Given the description of an element on the screen output the (x, y) to click on. 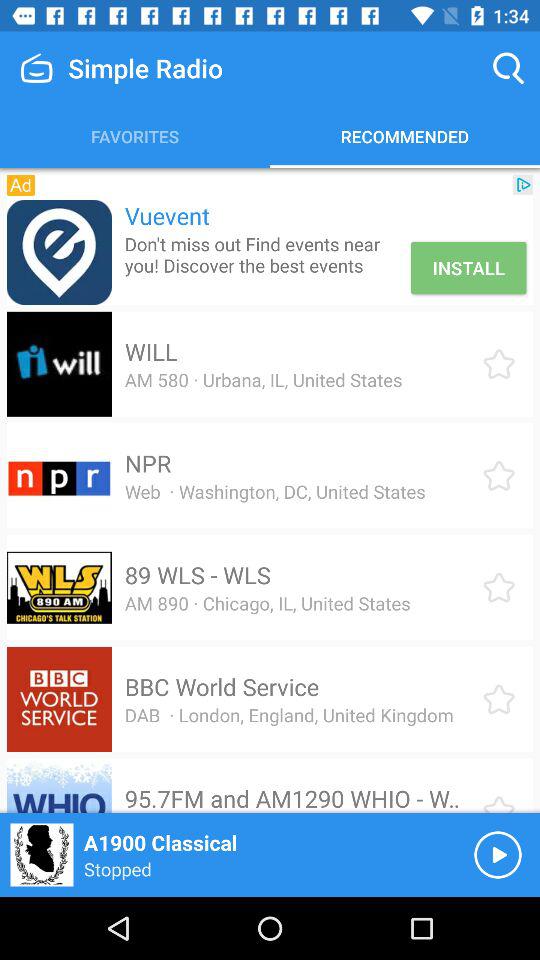
scroll to the don t miss (264, 254)
